Given the description of an element on the screen output the (x, y) to click on. 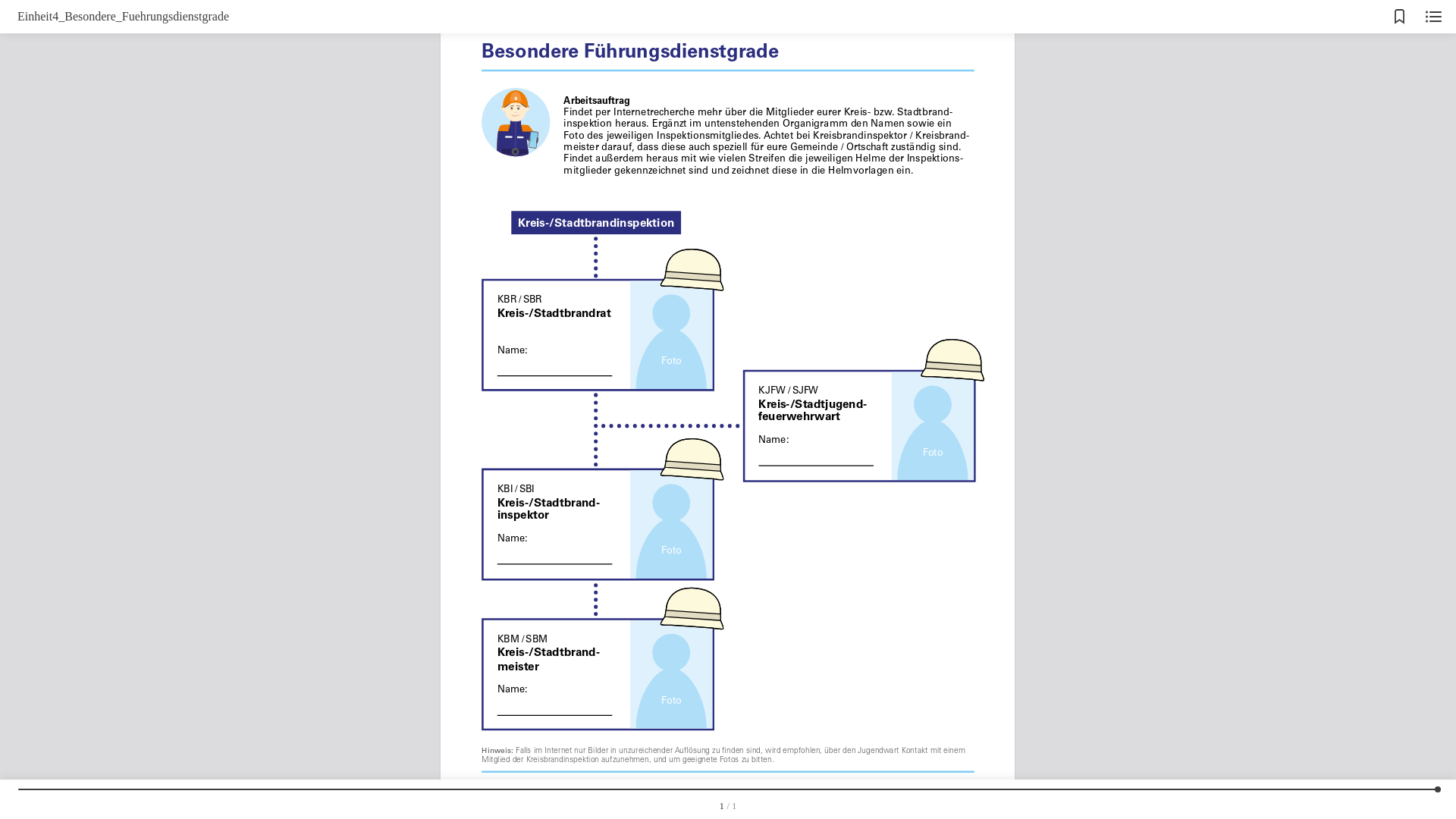
http://t1p.de/rca5 Element type: hover (821, 782)
